Given the description of an element on the screen output the (x, y) to click on. 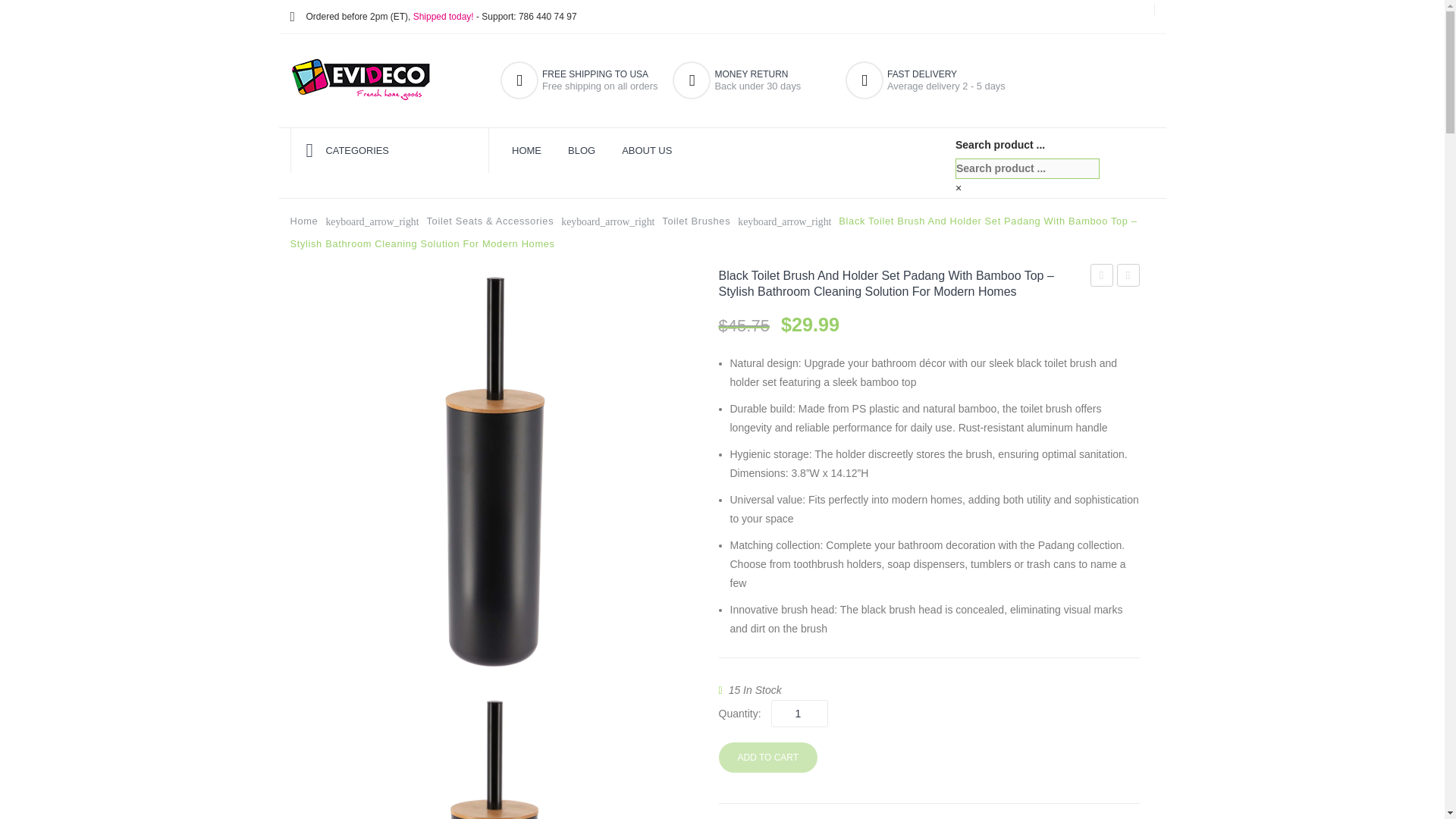
1 (799, 713)
c6bb1426-27d7-4c07-8427-7a769e875014.jpg (492, 755)
Qty (799, 713)
